Given the description of an element on the screen output the (x, y) to click on. 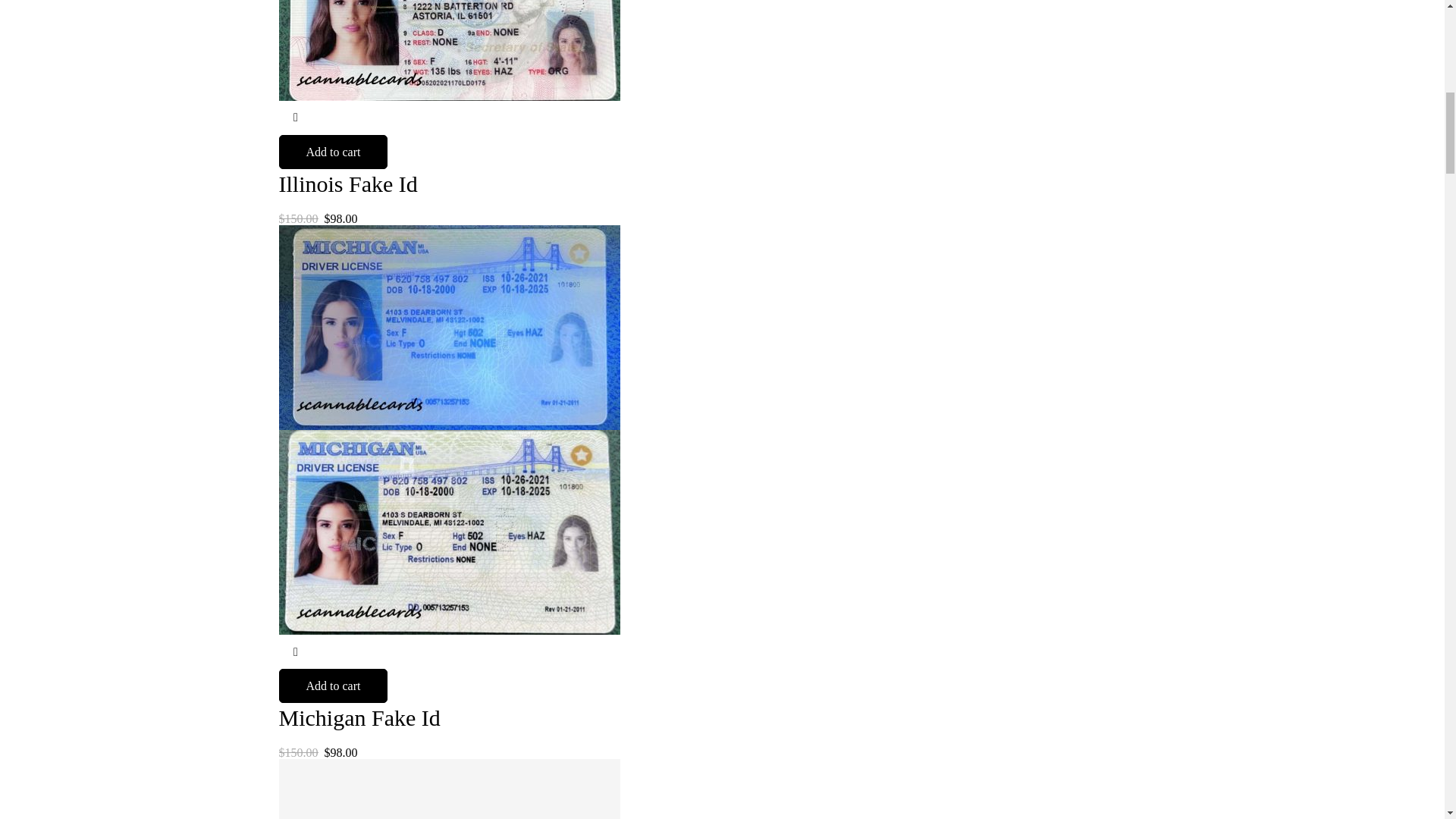
Add to cart (333, 151)
Add to cart (333, 685)
Quick view (296, 117)
Michigan Fake Id (360, 717)
Illinois Fake Id (348, 183)
Quick view (296, 651)
